Given the description of an element on the screen output the (x, y) to click on. 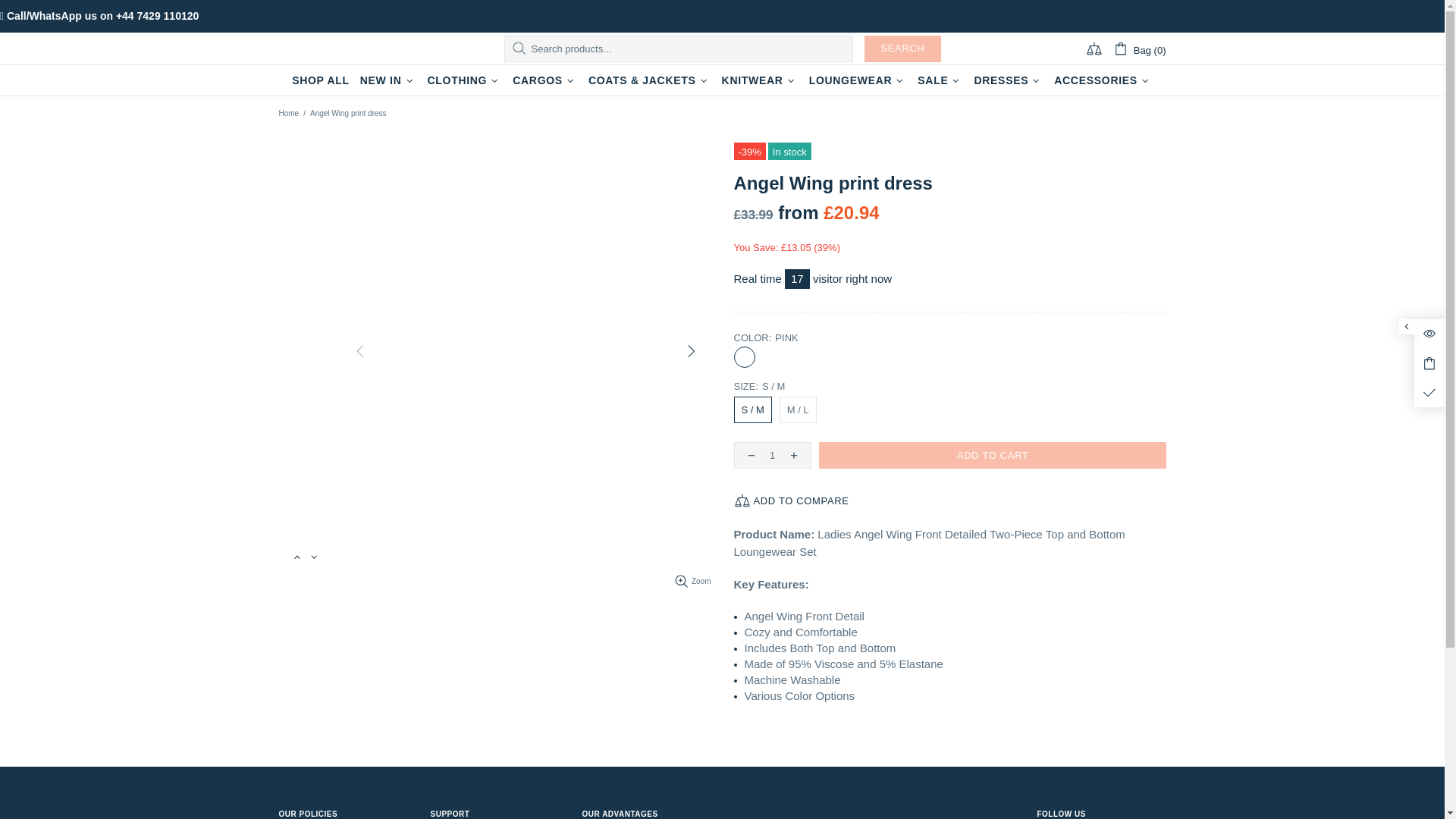
SEARCH (902, 49)
1 (771, 455)
NEW IN (388, 80)
Zuhoo (349, 48)
CLOTHING (464, 80)
SHOP ALL (320, 80)
